Given the description of an element on the screen output the (x, y) to click on. 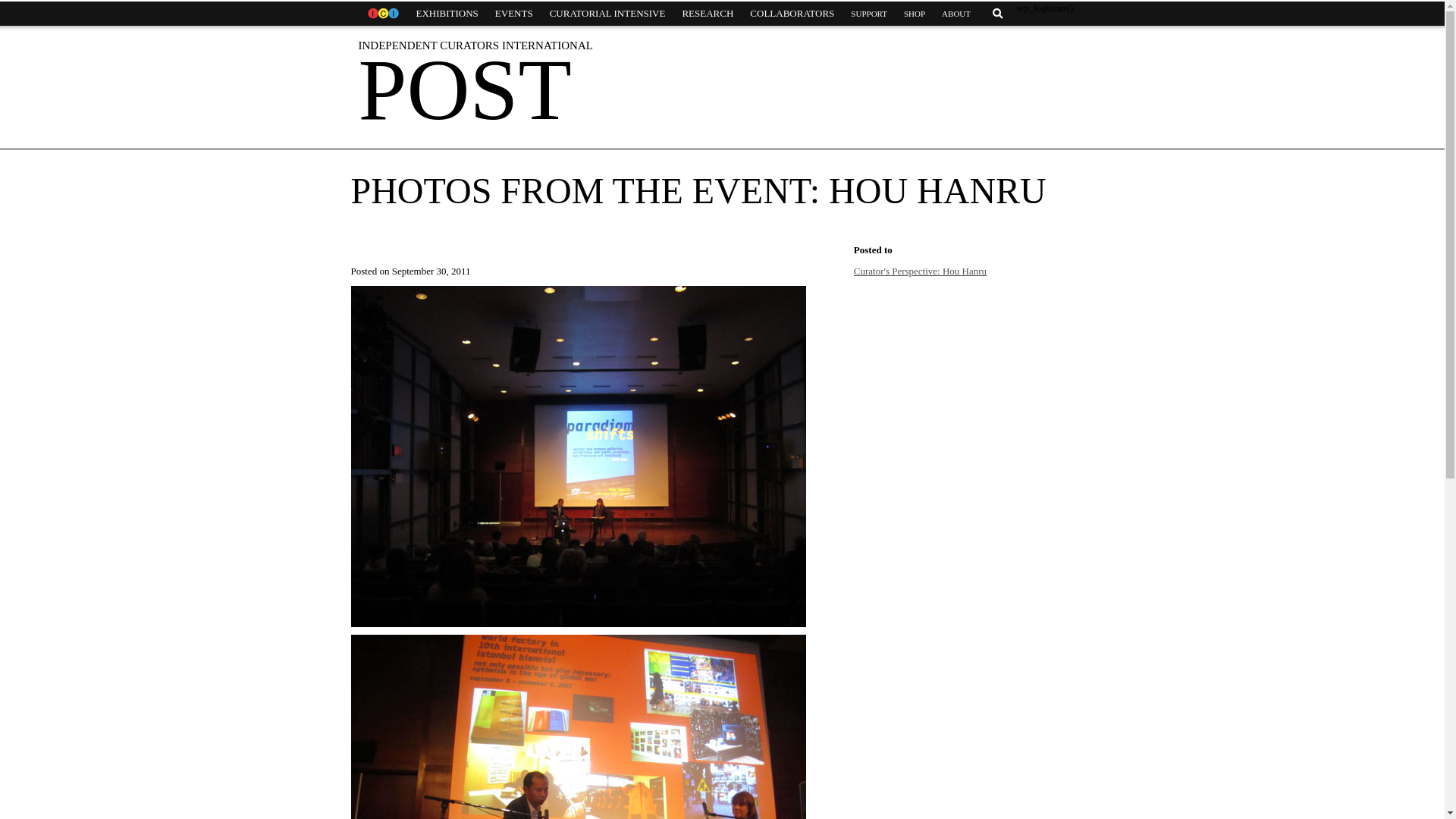
COLLABORATORS (792, 13)
HOME (382, 13)
RESEARCH (706, 13)
CURATORIAL INTENSIVE (607, 13)
EXHIBITIONS (446, 13)
EVENTS (513, 13)
